Given the description of an element on the screen output the (x, y) to click on. 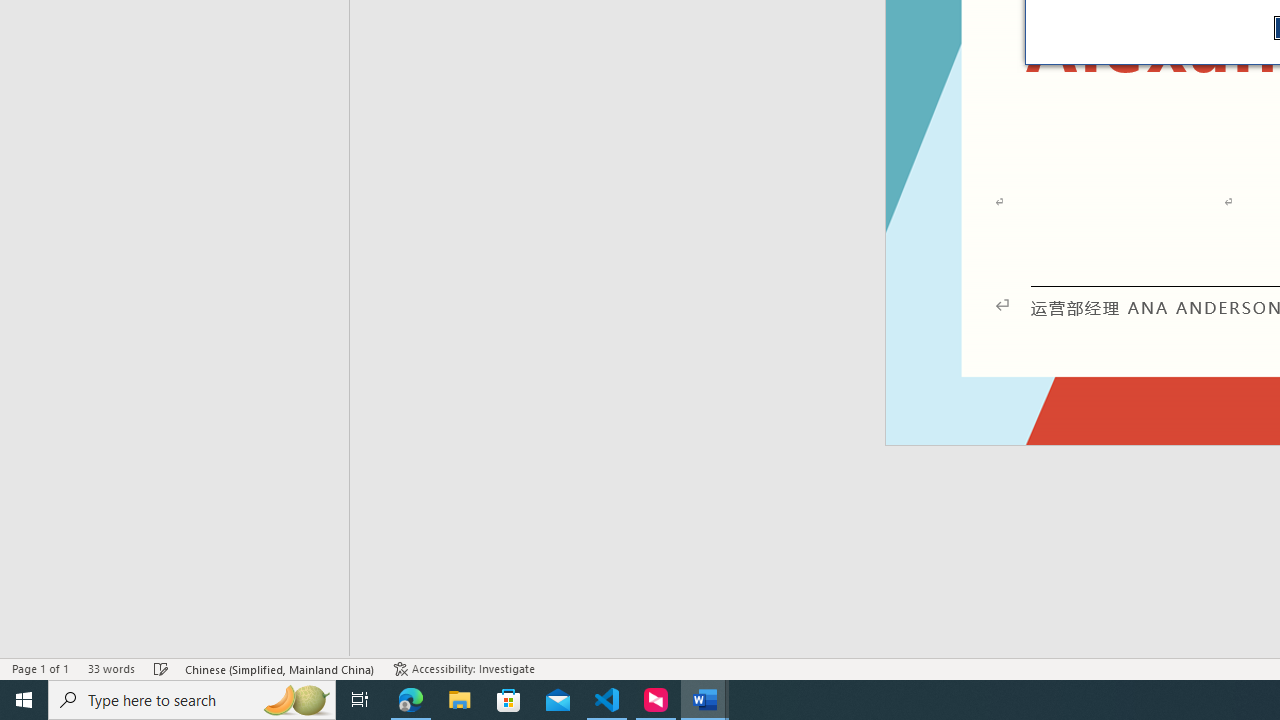
Page Number Page 1 of 1 (39, 668)
Task View (359, 699)
File Explorer (460, 699)
Spelling and Grammar Check Checking (161, 668)
Microsoft Store (509, 699)
Accessibility Checker Accessibility: Investigate (464, 668)
Word - 2 running windows (704, 699)
Language Chinese (Simplified, Mainland China) (279, 668)
Visual Studio Code - 1 running window (607, 699)
Type here to search (191, 699)
Microsoft Edge - 1 running window (411, 699)
Start (24, 699)
